Given the description of an element on the screen output the (x, y) to click on. 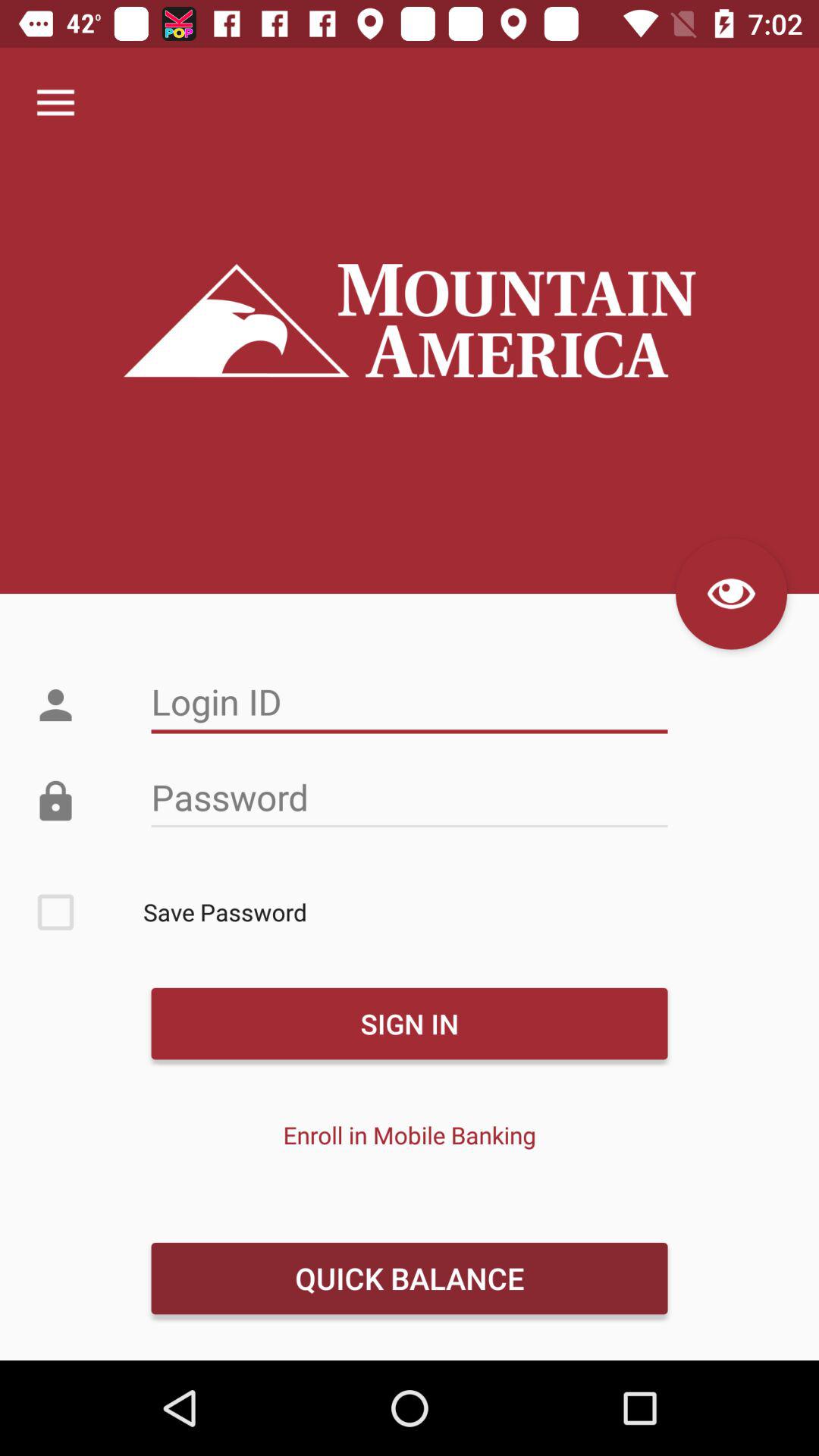
turn off item below the sign in icon (409, 1134)
